Given the description of an element on the screen output the (x, y) to click on. 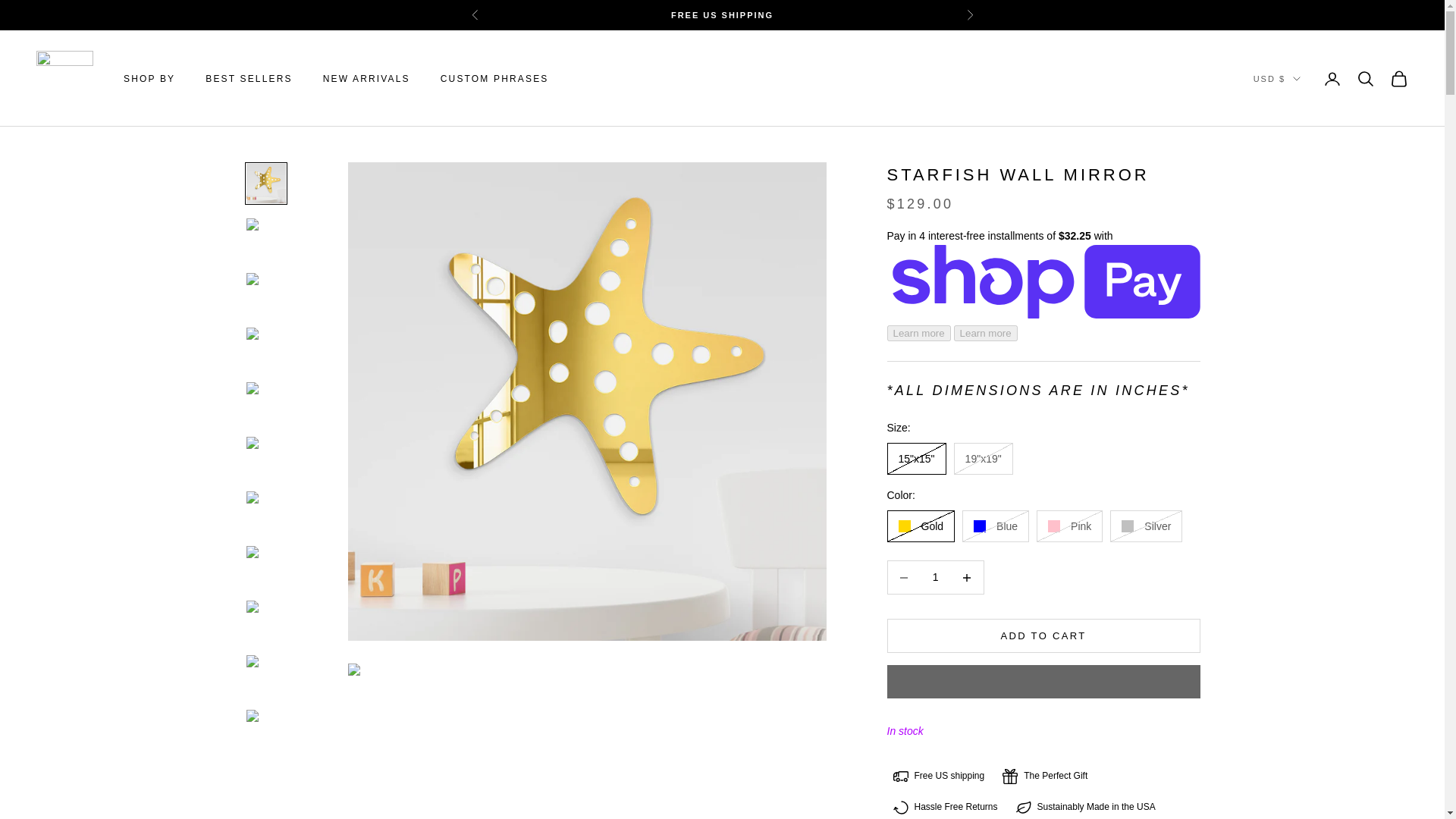
Previous (474, 15)
Open search (1365, 78)
Open cart (1398, 78)
Next (968, 15)
CUSTOM PHRASES (494, 78)
1 (935, 577)
Open account page (1331, 78)
4ArtWorks (64, 78)
